Given the description of an element on the screen output the (x, y) to click on. 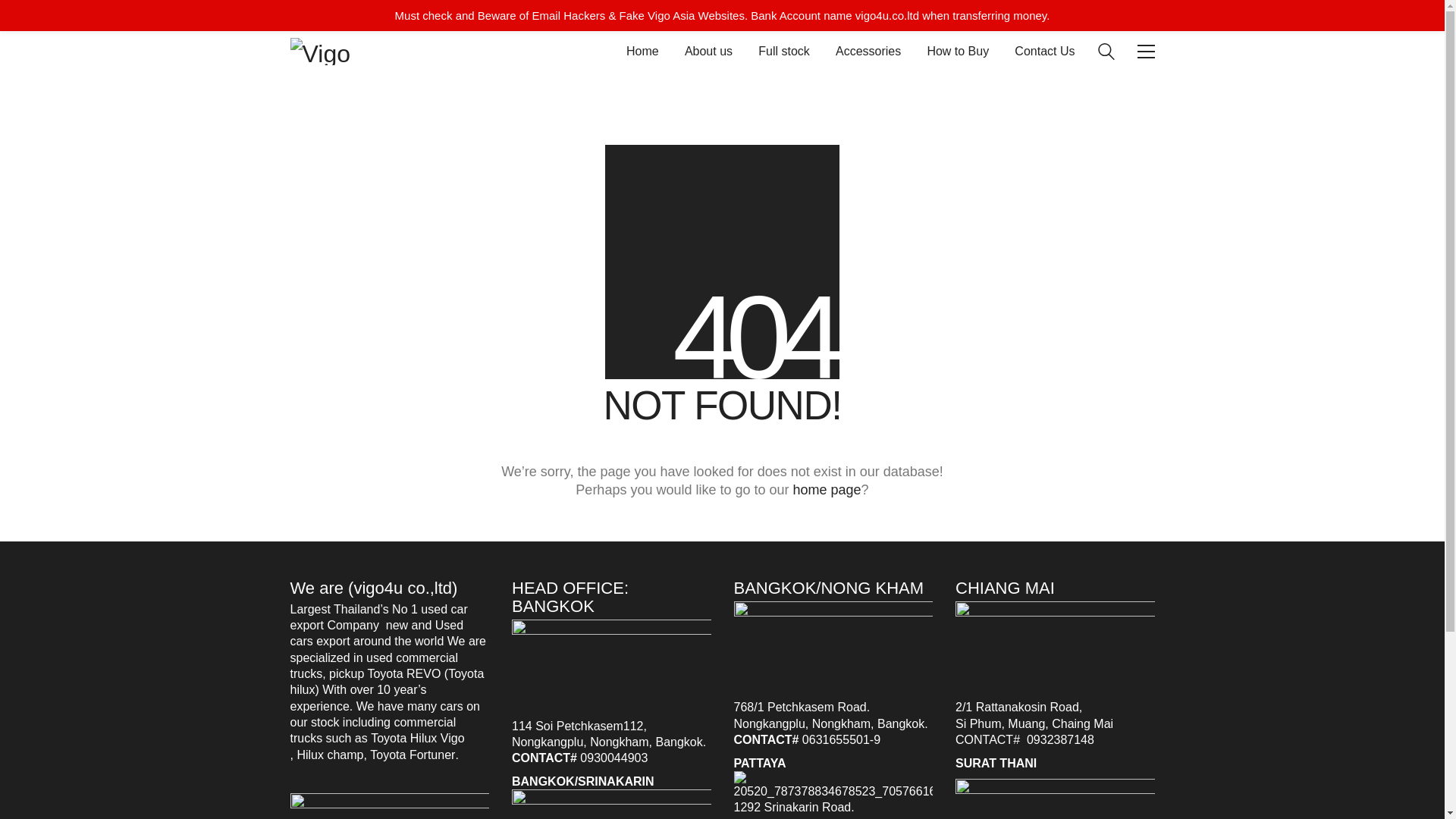
About us (708, 50)
How to Buy (957, 50)
Accessories (868, 50)
Full stock (783, 50)
Home (642, 50)
